Given the description of an element on the screen output the (x, y) to click on. 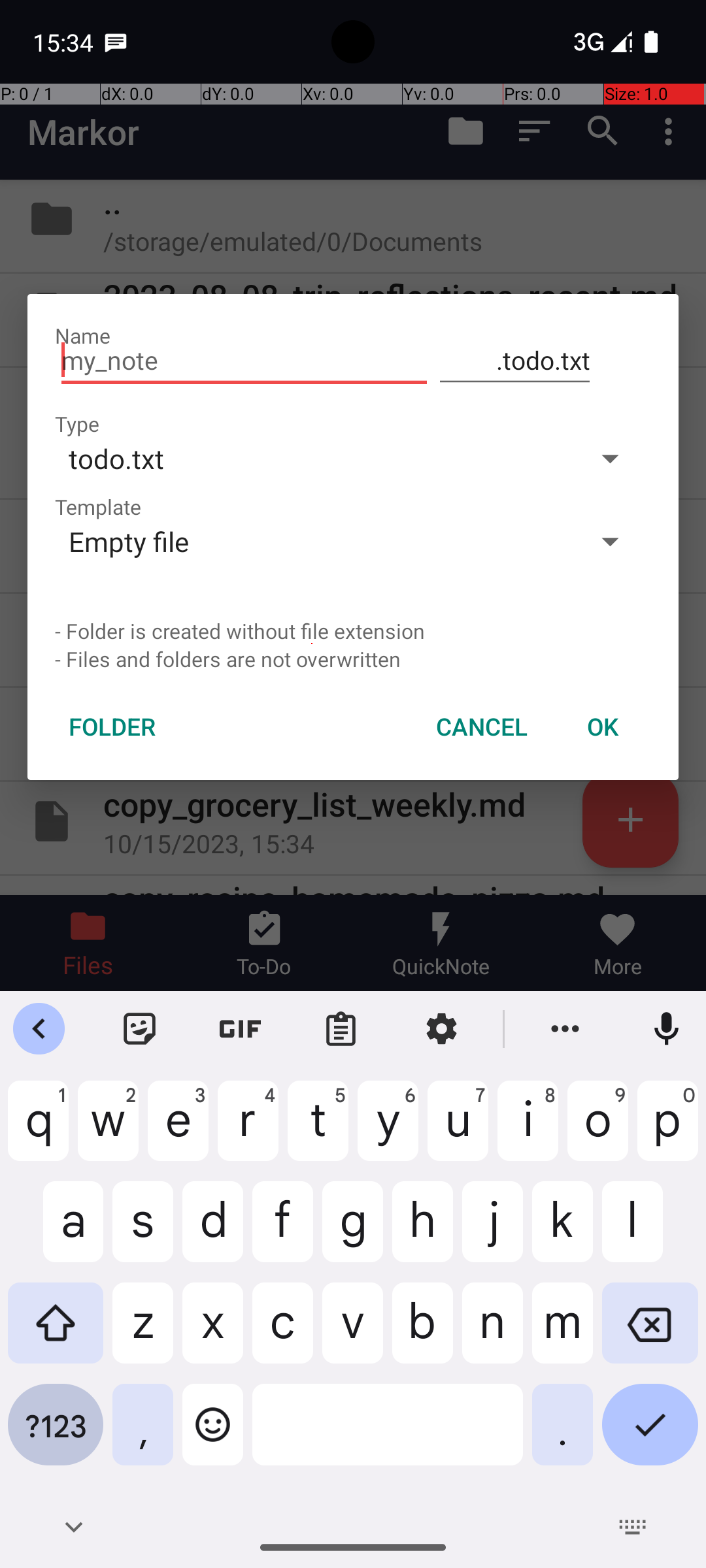
.todo.txt Element type: android.widget.EditText (514, 360)
